Given the description of an element on the screen output the (x, y) to click on. 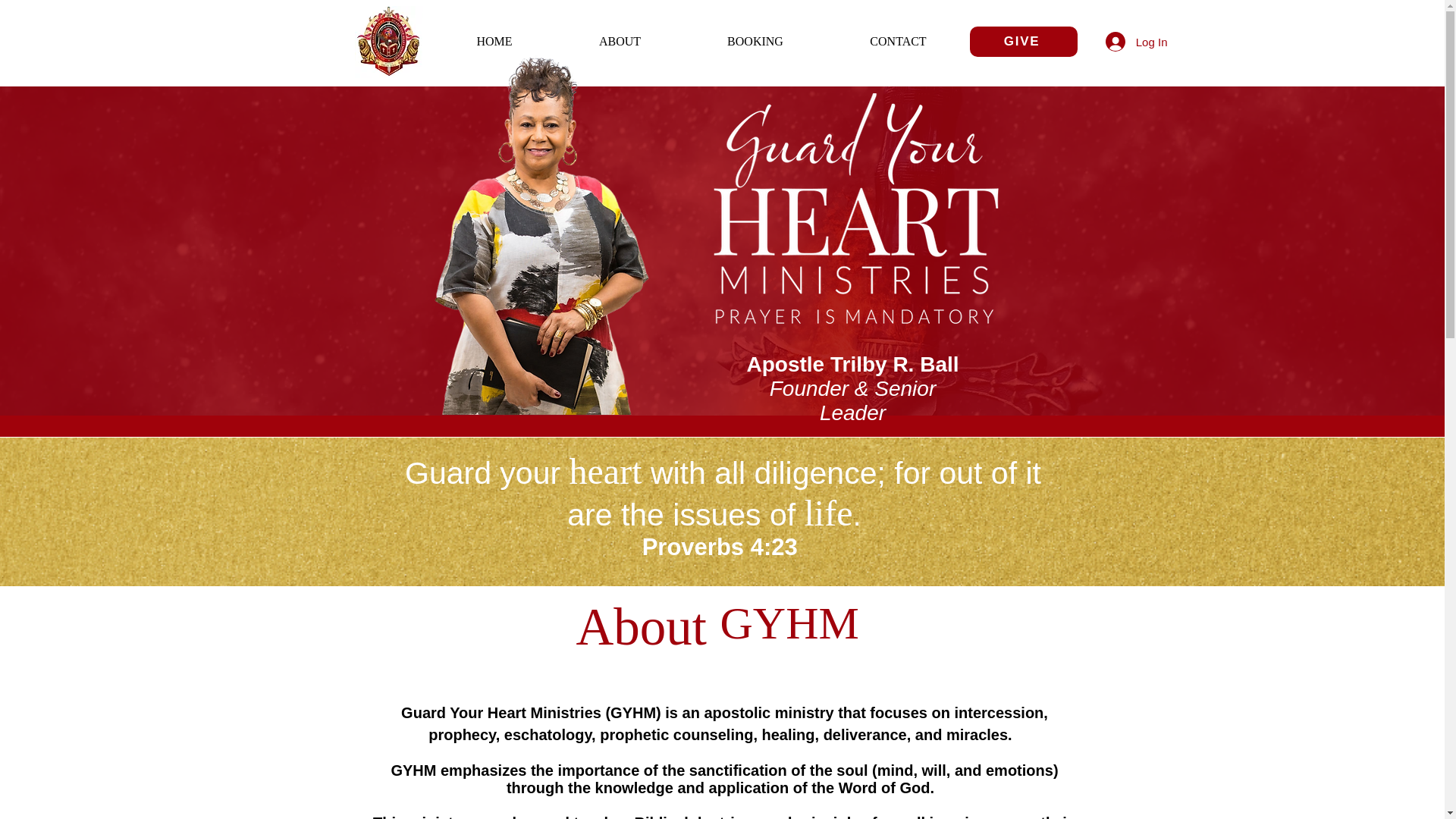
Log In (1135, 41)
CONTACT (898, 41)
ABOUT (620, 41)
BOOKING (755, 41)
HOME (494, 41)
GIVE (1023, 41)
